Given the description of an element on the screen output the (x, y) to click on. 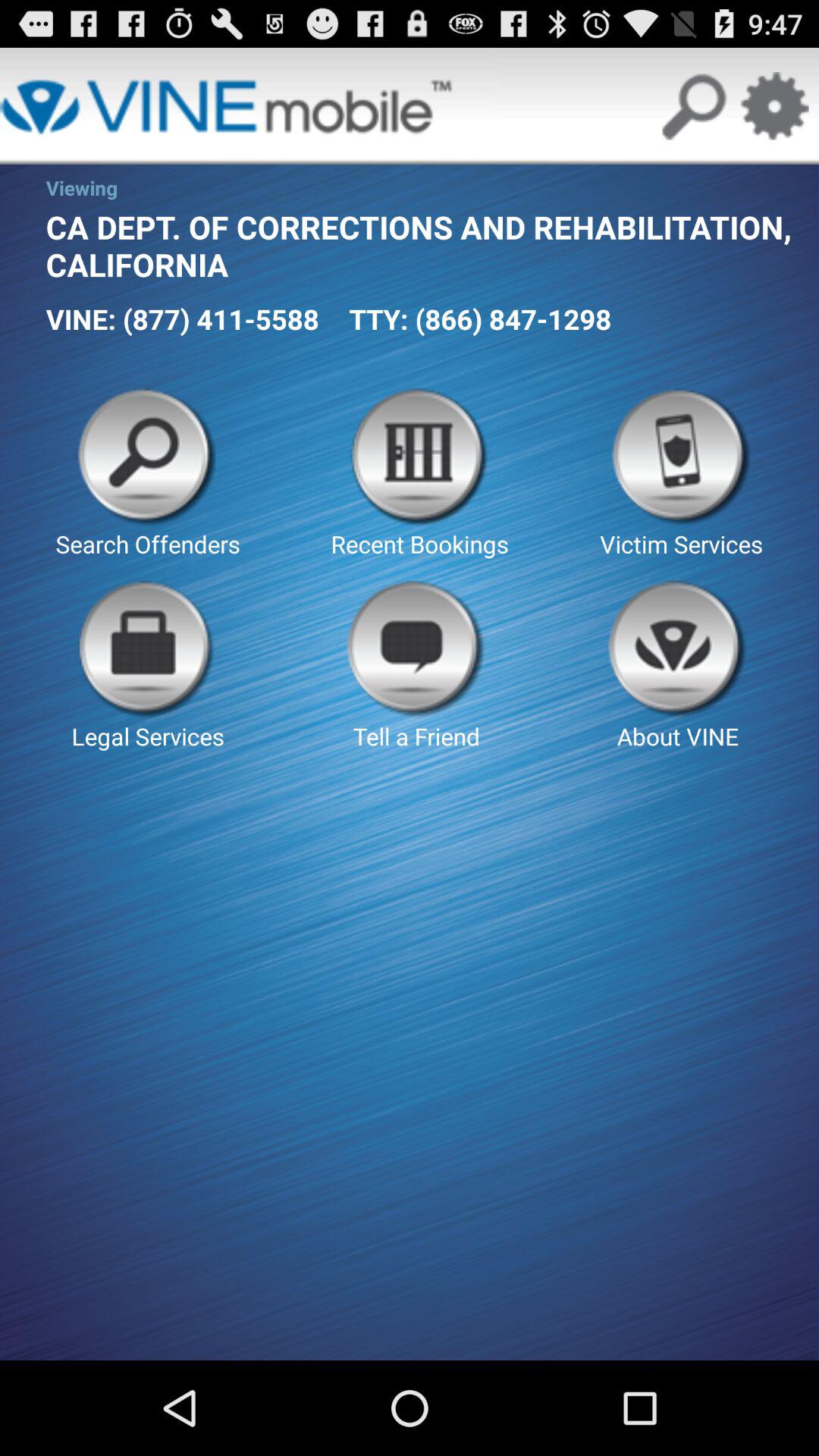
select button next to the tell a friend item (147, 666)
